Given the description of an element on the screen output the (x, y) to click on. 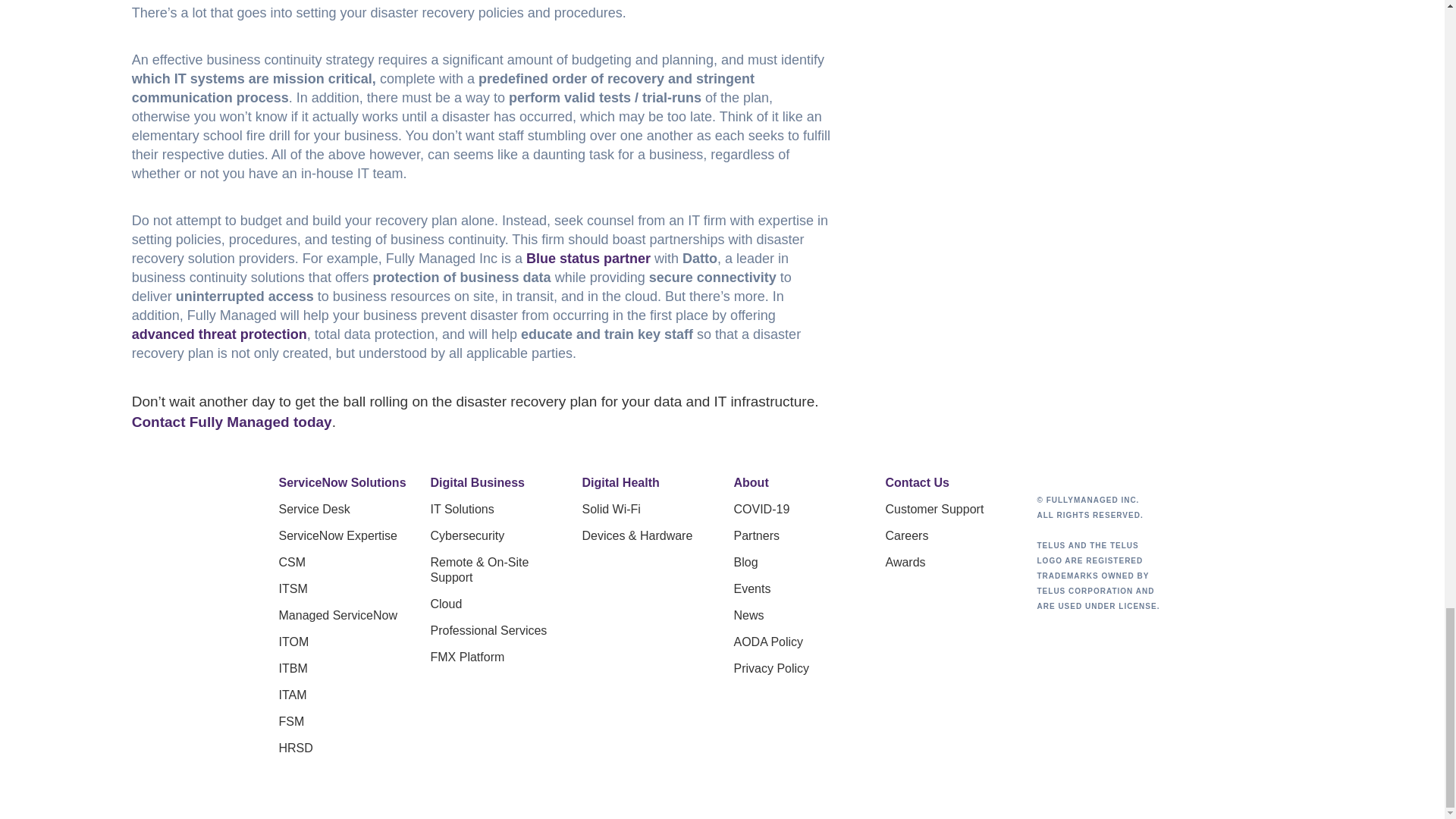
Cybersecurity (494, 535)
HRSD (343, 748)
Managed ServiceNow (343, 615)
IT Solutions (494, 509)
FSM (343, 721)
CSM (343, 562)
ITOM (343, 642)
ITAM (343, 694)
Digital Health (646, 482)
Digital Business (494, 482)
Cloud (494, 604)
Digital Enterprise (343, 482)
FMX Platform (494, 657)
ITBM (343, 668)
Service Desk (343, 509)
